Given the description of an element on the screen output the (x, y) to click on. 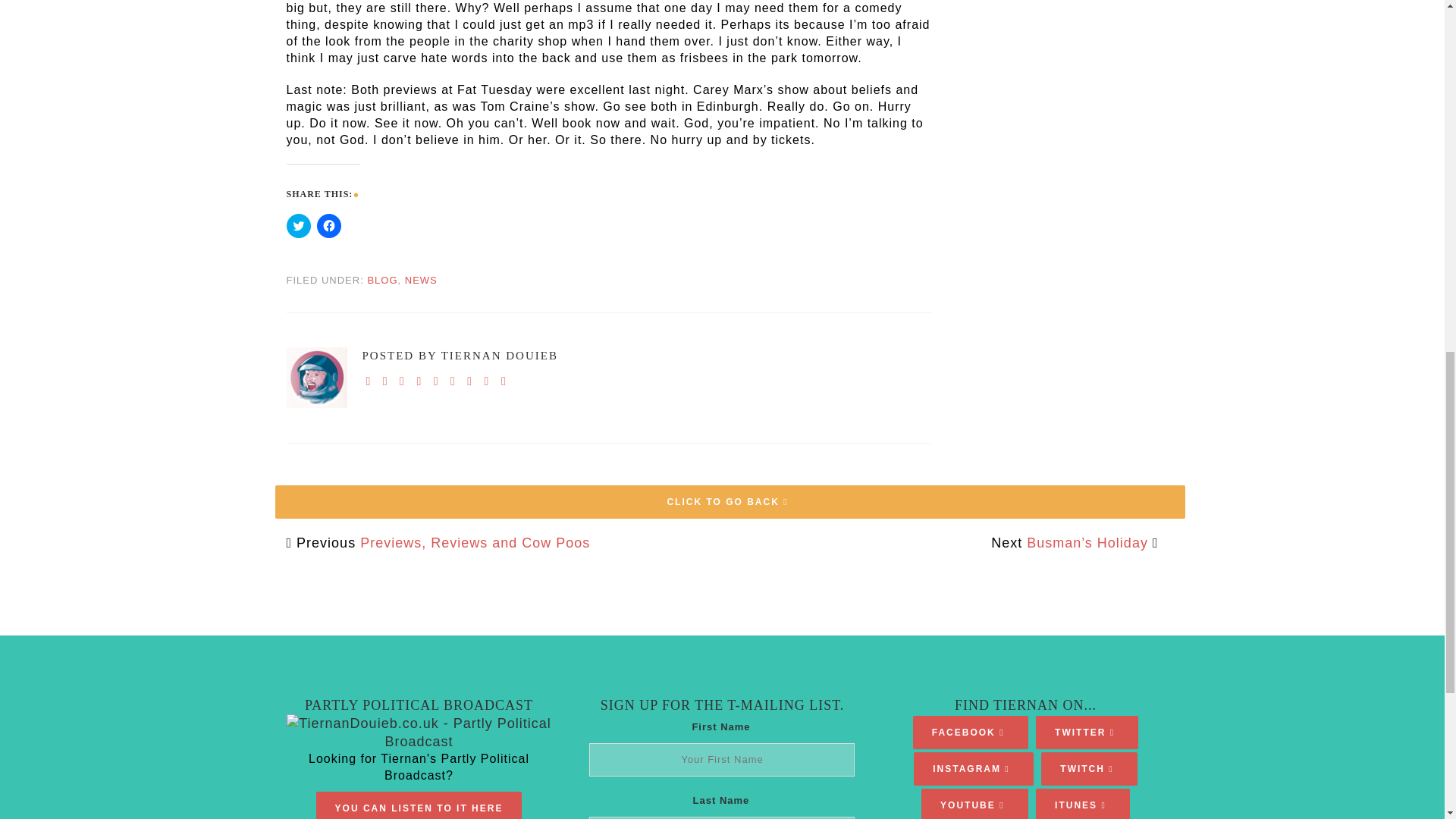
CLICK TO GO BACK (730, 501)
Click to share on Twitter (298, 225)
TiernanDouieb.co.uk  - Partly Political Broadcast (418, 732)
PARTLY POLITICAL BROADCAST (418, 705)
Previews, Reviews and Cow Poos (474, 542)
YOU CAN LISTEN TO IT HERE (418, 805)
Click to share on Facebook (328, 225)
BLOG (381, 279)
NEWS (421, 279)
Tiernan Douieb (316, 377)
YOU CAN LISTEN TO IT HERE (418, 808)
SIGN UP FOR THE T-MAILING LIST. (721, 705)
CLICK TO GO BACK (729, 485)
